Given the description of an element on the screen output the (x, y) to click on. 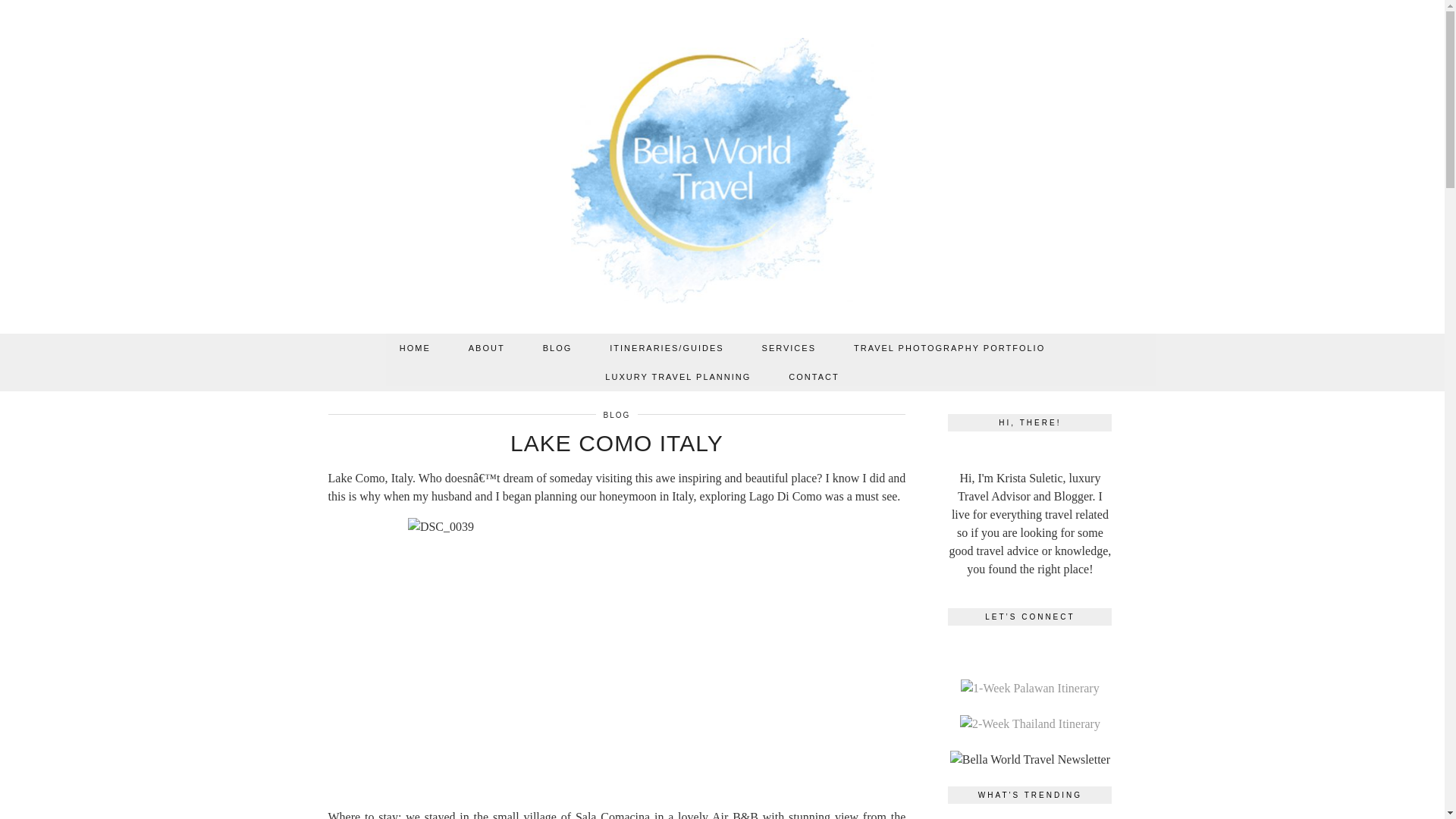
SERVICES (788, 347)
LUXURY TRAVEL PLANNING (678, 376)
HOME (414, 347)
BLOG (557, 347)
ABOUT (486, 347)
TRAVEL PHOTOGRAPHY PORTFOLIO (949, 347)
CONTACT (813, 376)
